Given the description of an element on the screen output the (x, y) to click on. 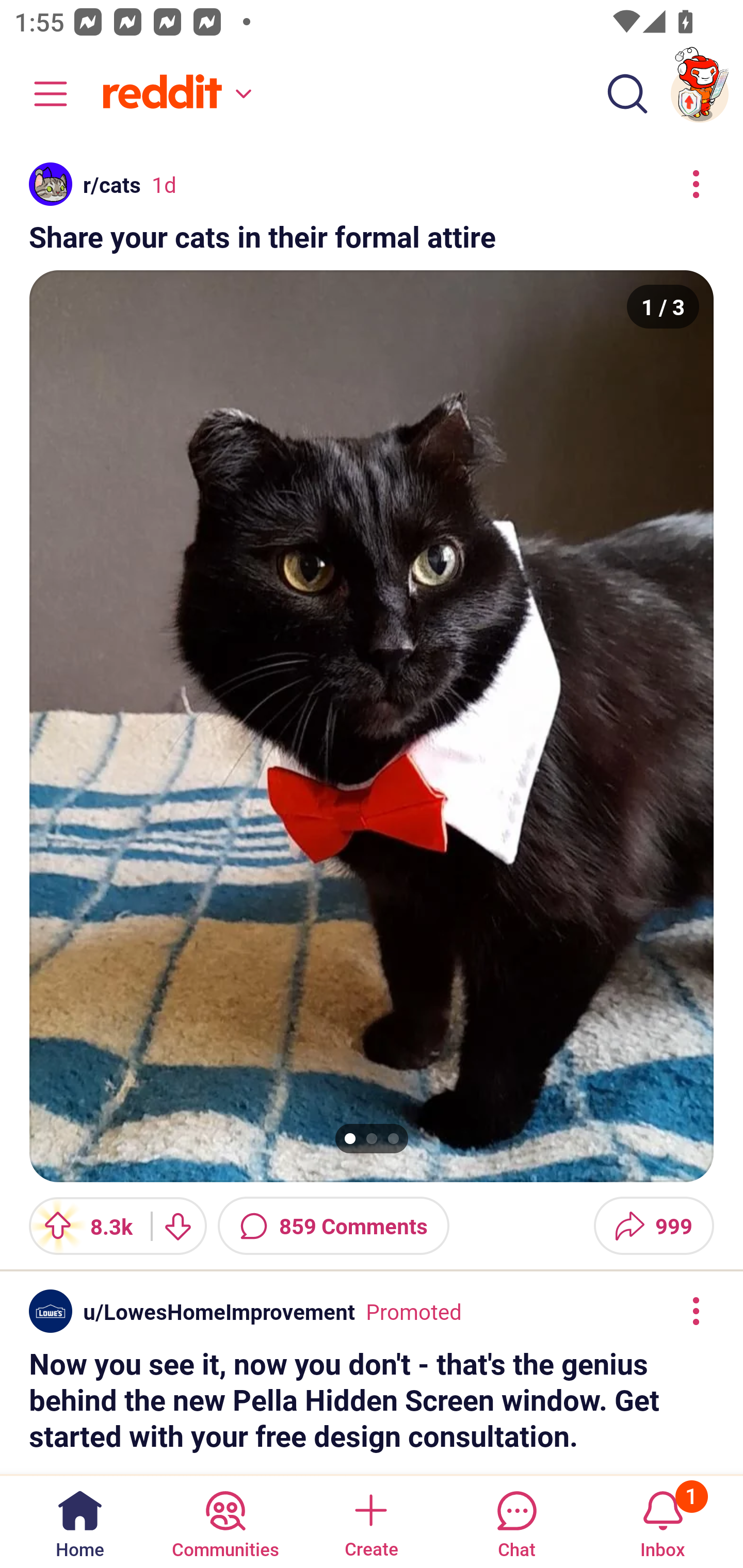
Search (626, 93)
TestAppium002 account (699, 93)
Community menu (41, 94)
Home feed (173, 94)
Home (80, 1520)
Communities (225, 1520)
Create a post Create (370, 1520)
Chat (516, 1520)
Inbox, has 1 notification 1 Inbox (662, 1520)
